Given the description of an element on the screen output the (x, y) to click on. 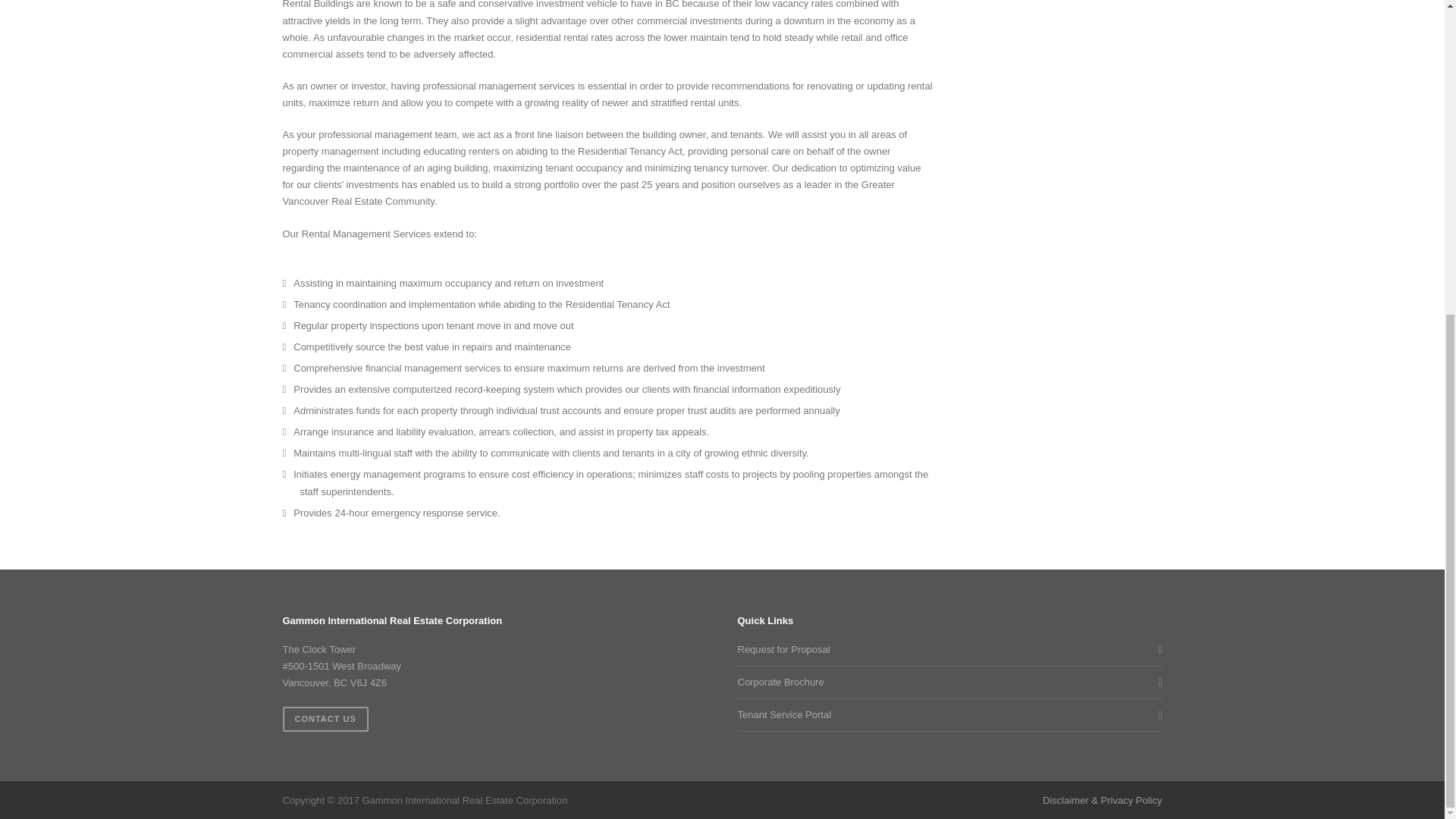
Request for Proposal (945, 649)
Corporate Brochure (945, 682)
CONTACT US (325, 719)
Tenant Service Portal (945, 714)
